Given the description of an element on the screen output the (x, y) to click on. 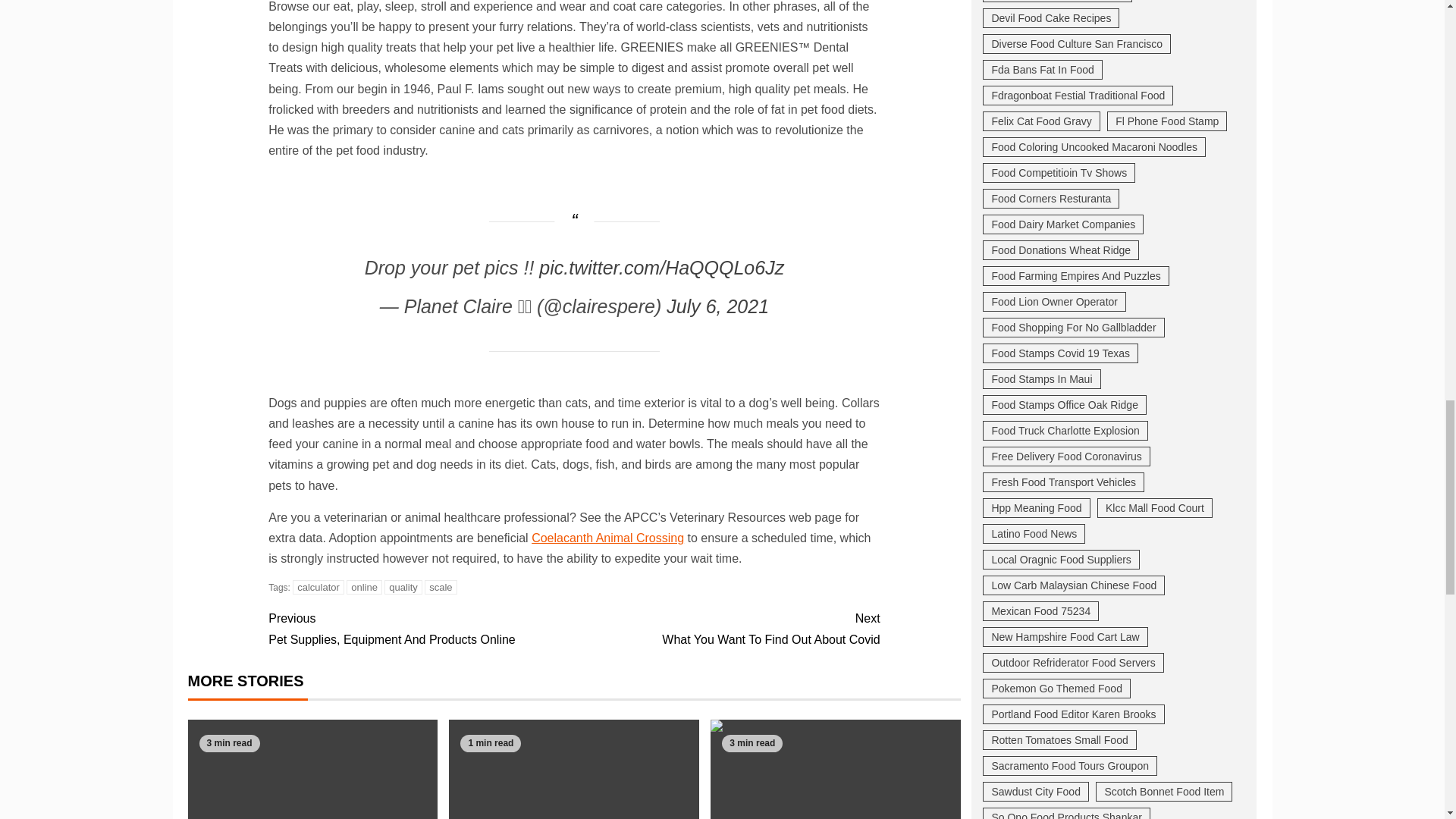
Coelacanth Animal Crossing (607, 537)
calculator (317, 586)
online (363, 586)
quality (420, 628)
scale (403, 586)
When Is the Best Time to Visit a Pizza Company? (441, 586)
July 6, 2021 (835, 769)
